Given the description of an element on the screen output the (x, y) to click on. 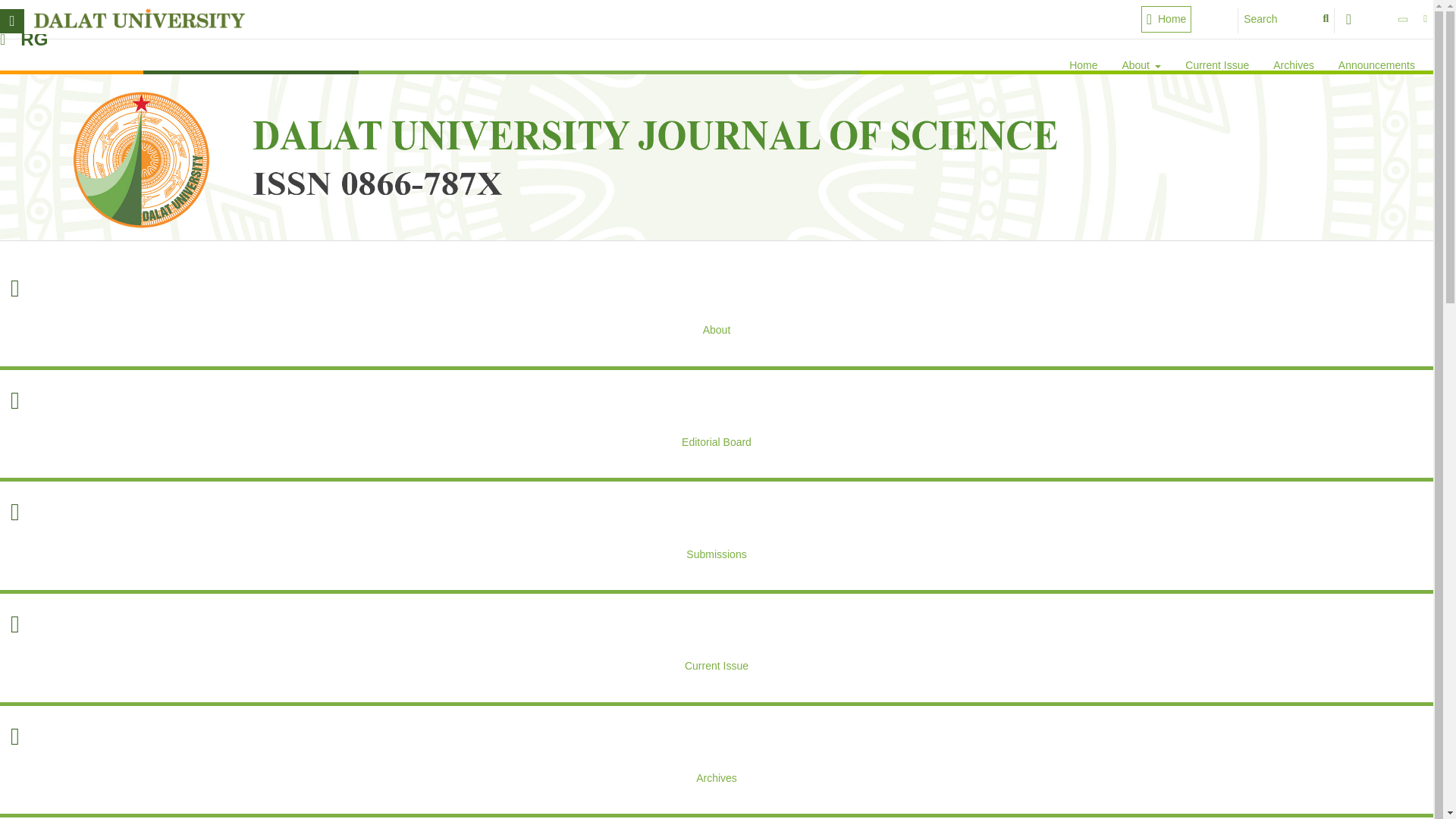
Search (1286, 20)
RG (33, 38)
Archives (1293, 67)
Home (1083, 67)
Announcements (1377, 67)
About (1141, 67)
Current Issue (1216, 67)
